Given the description of an element on the screen output the (x, y) to click on. 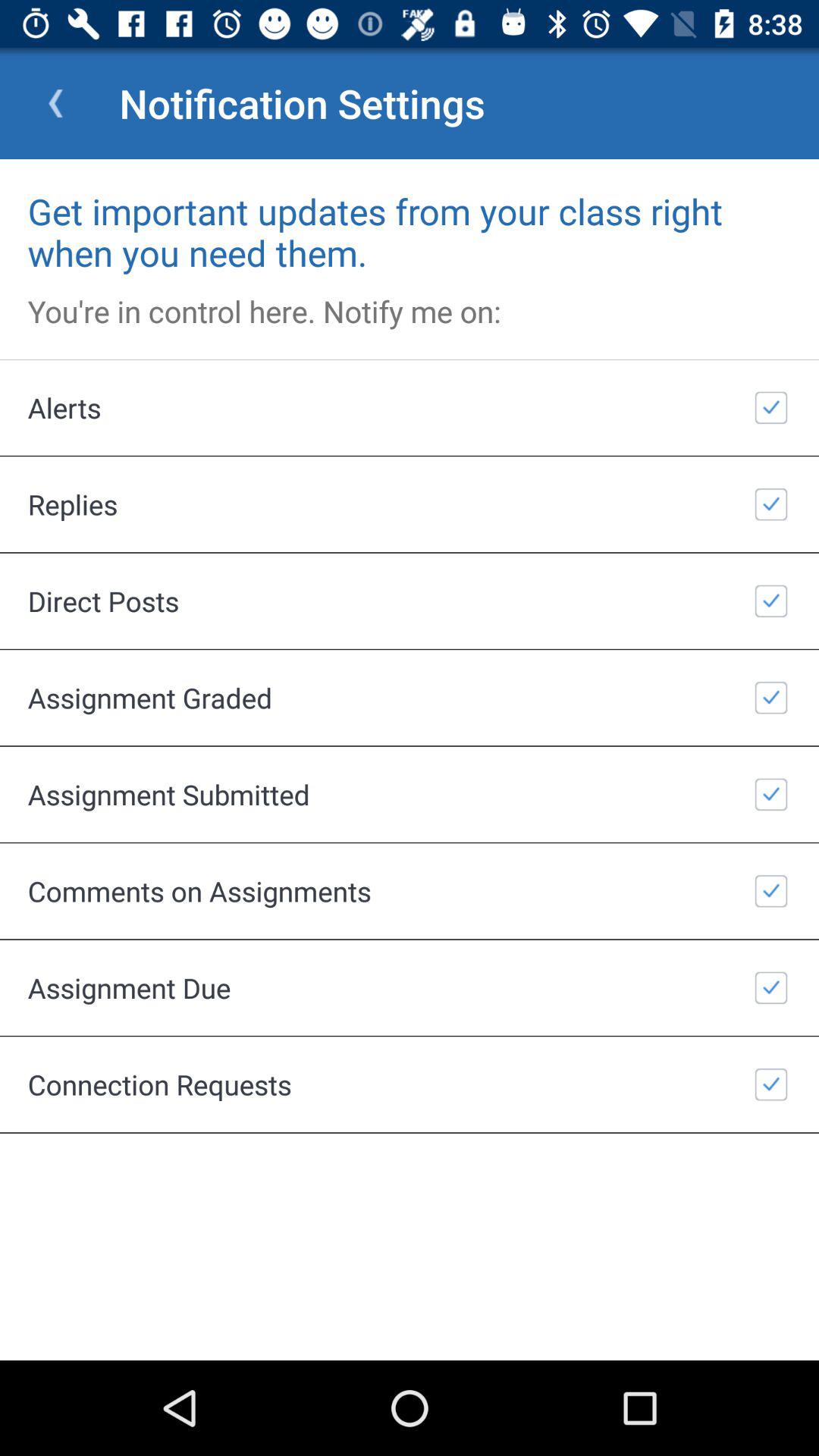
click icon above get important updates icon (55, 103)
